Given the description of an element on the screen output the (x, y) to click on. 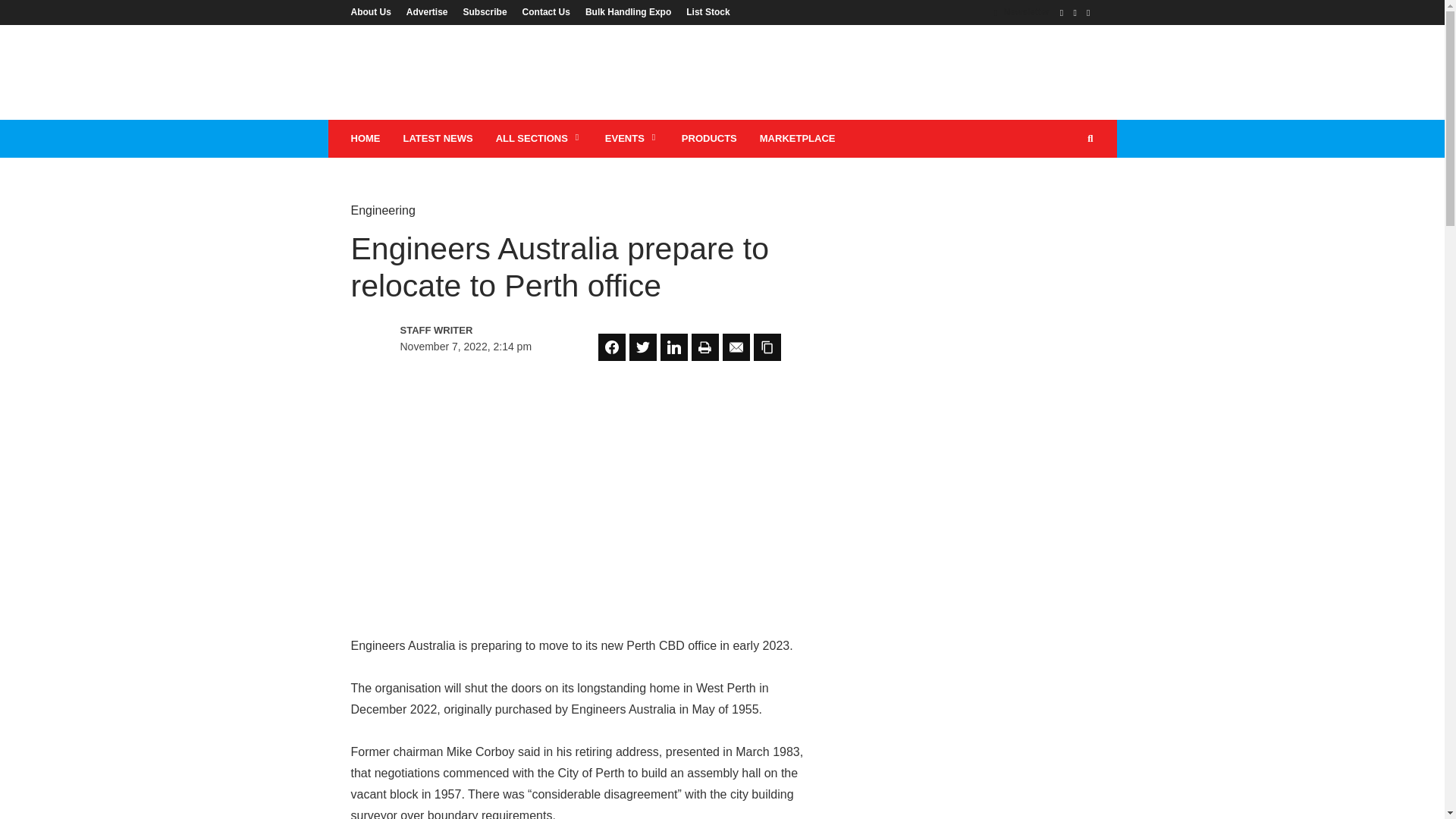
Advertise (426, 11)
Share on Facebook (612, 347)
Share on Email (735, 347)
List Stock (703, 11)
LATEST NEWS (437, 138)
About Us (373, 11)
Share on Copy Link (767, 347)
Subscribe (485, 11)
View all posts by Staff Writer (465, 330)
HOME (365, 138)
